Given the description of an element on the screen output the (x, y) to click on. 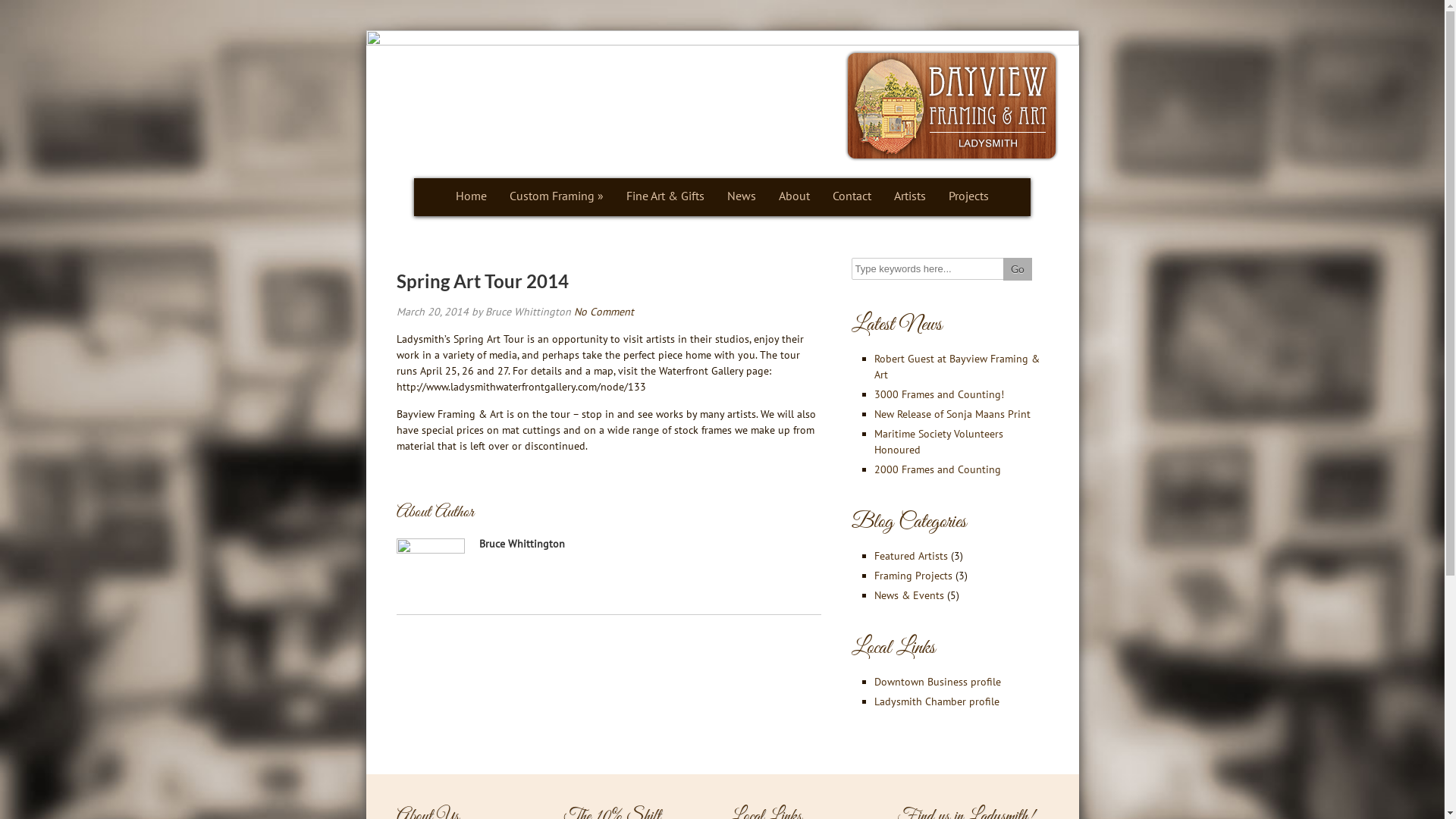
Projects Element type: text (968, 197)
News & Events Element type: text (908, 595)
No Comment Element type: text (603, 311)
3000 Frames and Counting! Element type: text (938, 394)
Downtown Business profile Element type: text (936, 681)
Fine Art & Gifts Element type: text (665, 197)
Ladysmith Chamber profile Element type: text (935, 701)
About Element type: text (794, 197)
Contact Element type: text (851, 197)
Maritime Society Volunteers Honoured Element type: text (937, 441)
Bayview Framing & Art Element type: hover (951, 105)
Featured Artists Element type: text (910, 555)
Framing Projects Element type: text (912, 575)
News Element type: text (741, 197)
Artists Element type: text (909, 197)
Home Element type: text (471, 197)
2000 Frames and Counting Element type: text (936, 469)
Robert Guest at Bayview Framing & Art Element type: text (955, 366)
Go Element type: text (1016, 268)
New Release of Sonja Maans Print Element type: text (951, 413)
